Given the description of an element on the screen output the (x, y) to click on. 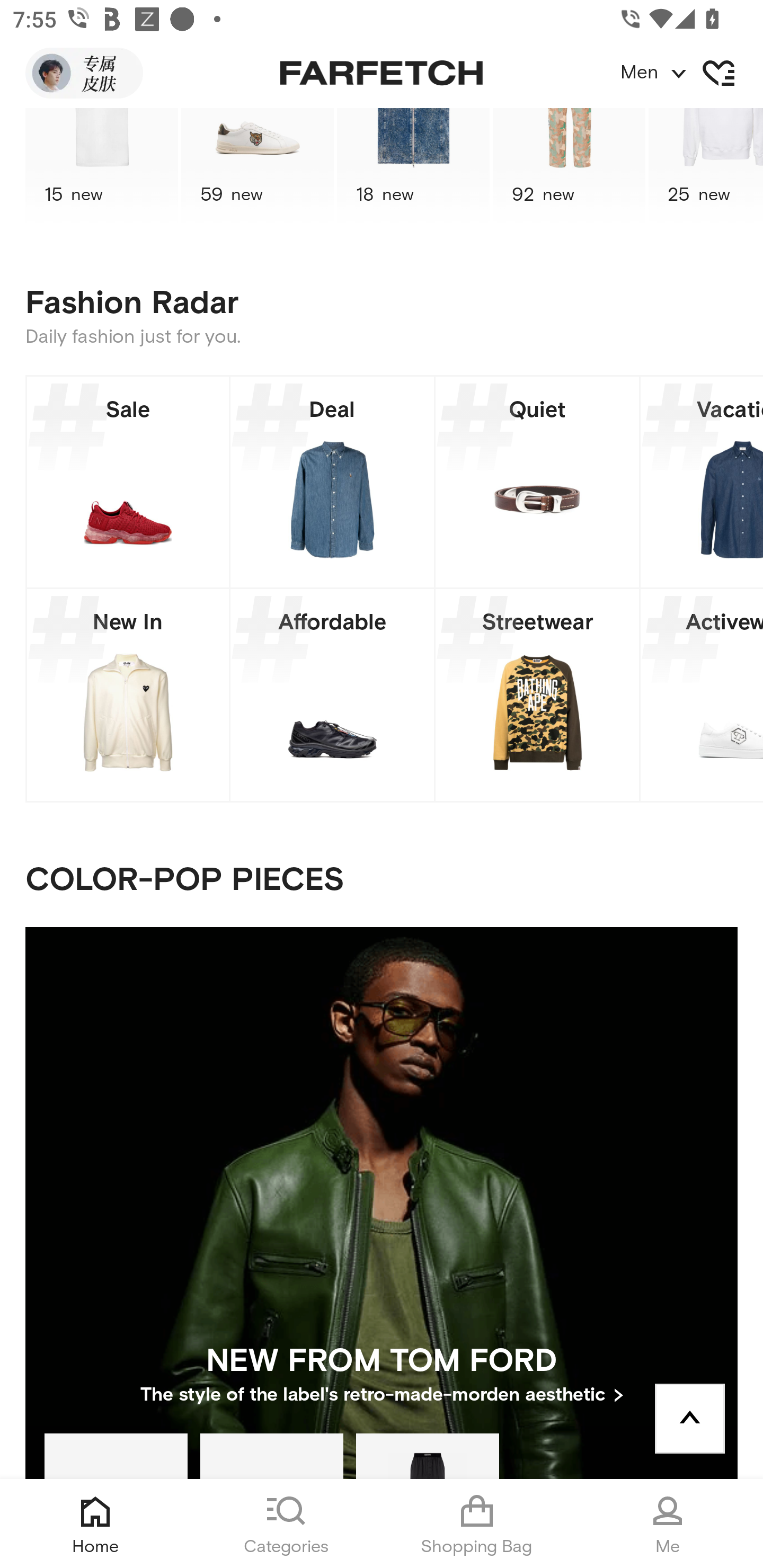
Men (691, 72)
Philipp Plein 15  new (101, 166)
Polo Ralph Lauren 59  new (257, 166)
Diesel 18  new (413, 166)
Acne Studios 92  new (568, 166)
Stone Island 25  new (705, 166)
Sale (127, 482)
Deal (332, 482)
Quiet (537, 482)
Vacation (701, 482)
New In (127, 695)
Affordable (332, 695)
Streetwear (537, 695)
Activewear (701, 695)
Categories (285, 1523)
Shopping Bag (476, 1523)
Me (667, 1523)
